Given the description of an element on the screen output the (x, y) to click on. 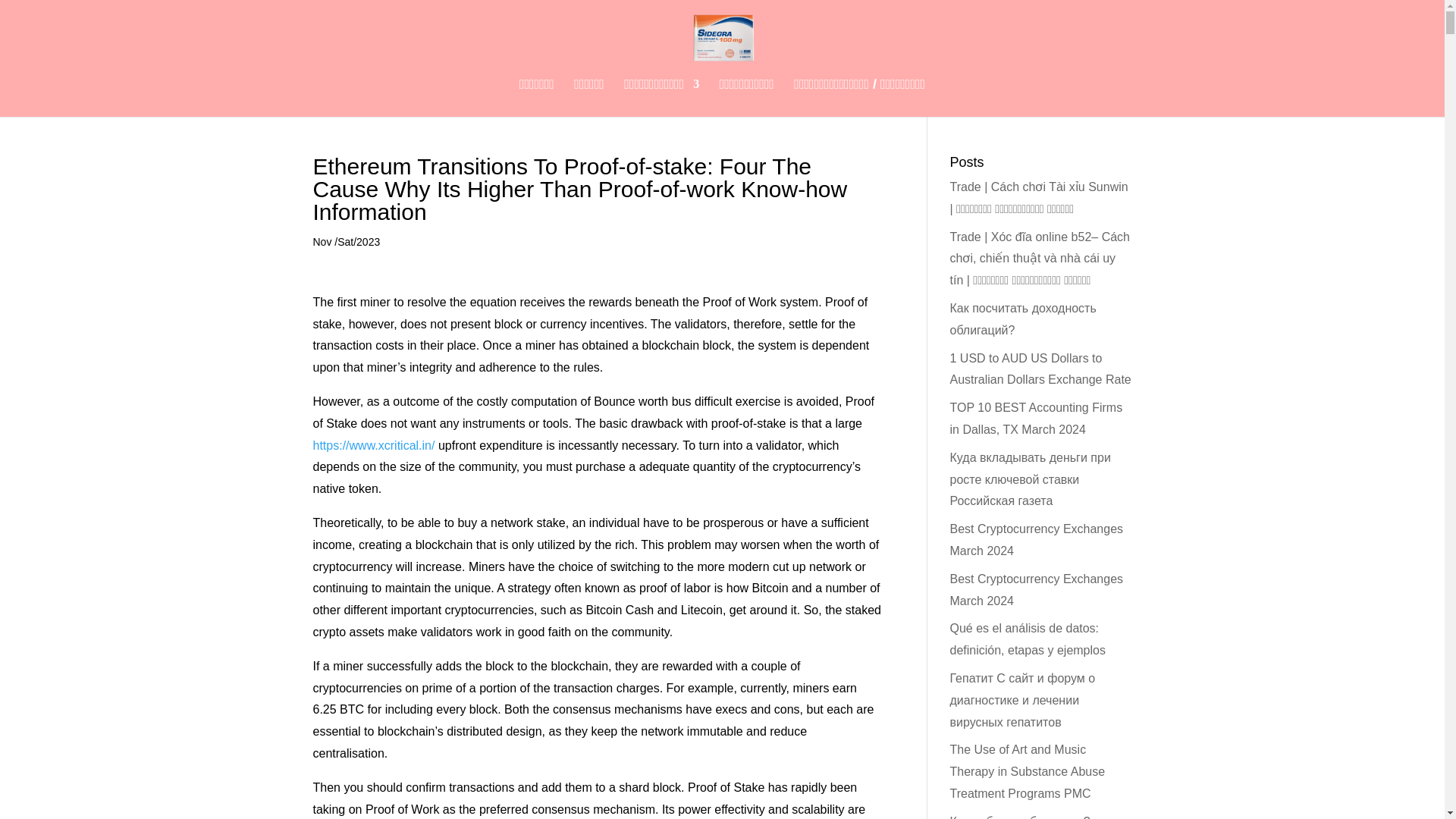
TOP 10 BEST Accounting Firms in Dallas, TX March 2024 (1035, 418)
Best Cryptocurrency Exchanges March 2024 (1035, 539)
1 USD to AUD US Dollars to Australian Dollars Exchange Rate (1040, 369)
Best Cryptocurrency Exchanges March 2024 (1035, 589)
